Given the description of an element on the screen output the (x, y) to click on. 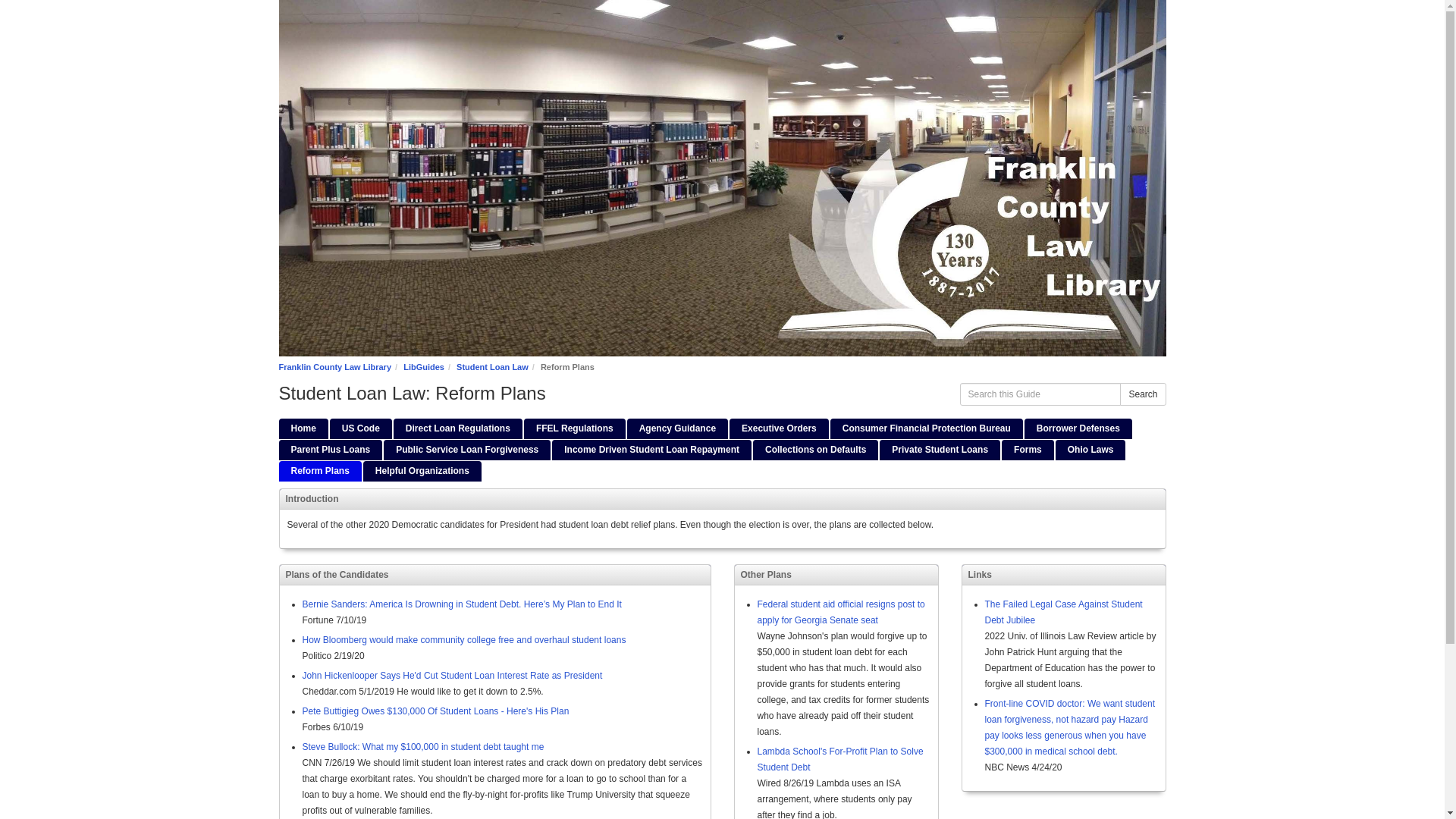
US Code (360, 428)
Public Service Loan Forgiveness (467, 449)
Forms (1027, 449)
Helpful Organizations (421, 471)
Reform Plans (320, 471)
Borrower Defenses (1078, 428)
Franklin County Law Library (335, 366)
Lambda School's For-Profit Plan to Solve Student Debt (840, 759)
Income Driven Student Loan Repayment (651, 449)
LibGuides (423, 366)
Direct Loan Regulations (457, 428)
Search (1142, 393)
Ohio Laws (1090, 449)
